Given the description of an element on the screen output the (x, y) to click on. 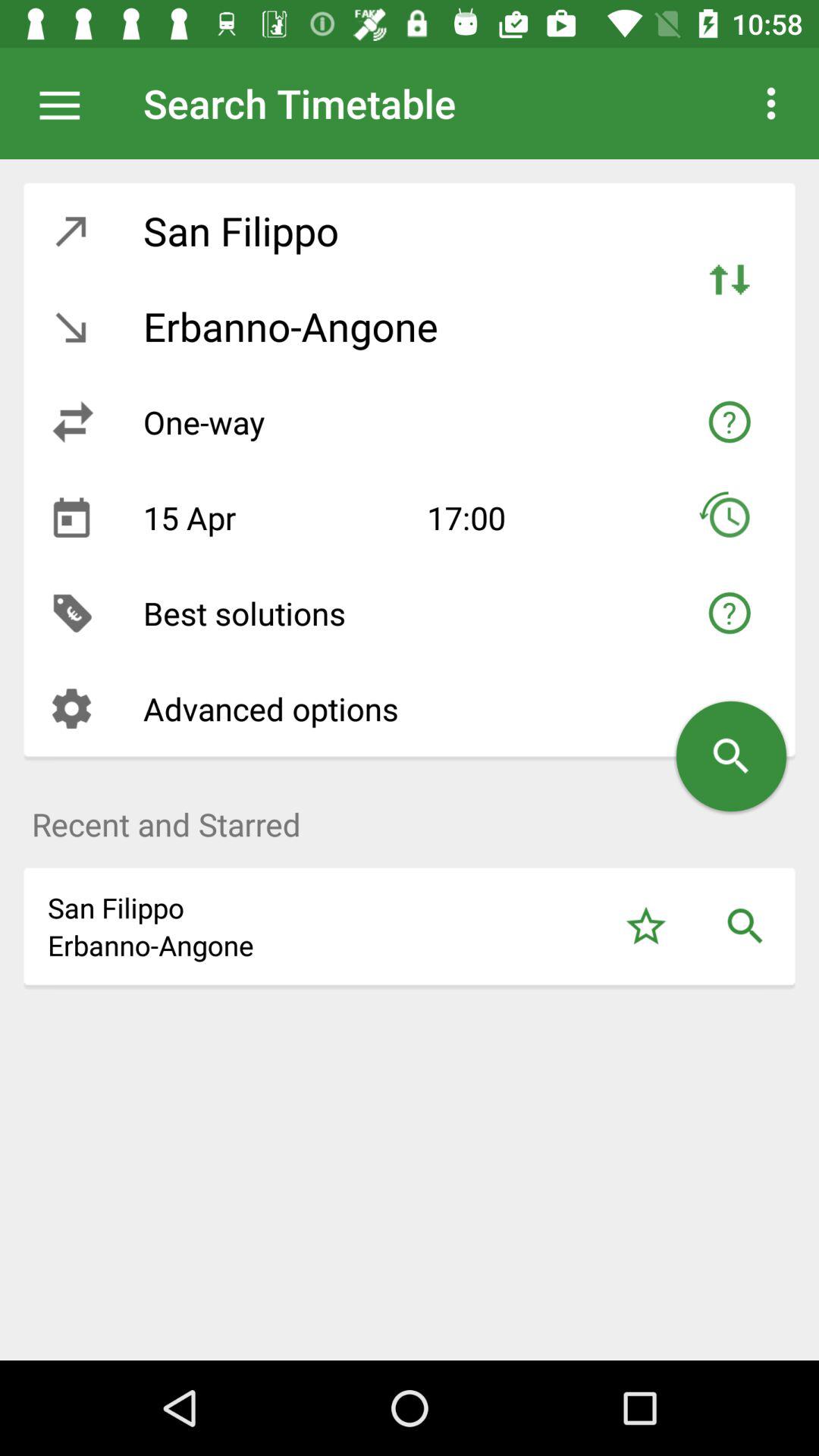
launch the item above best solutions item (273, 517)
